Given the description of an element on the screen output the (x, y) to click on. 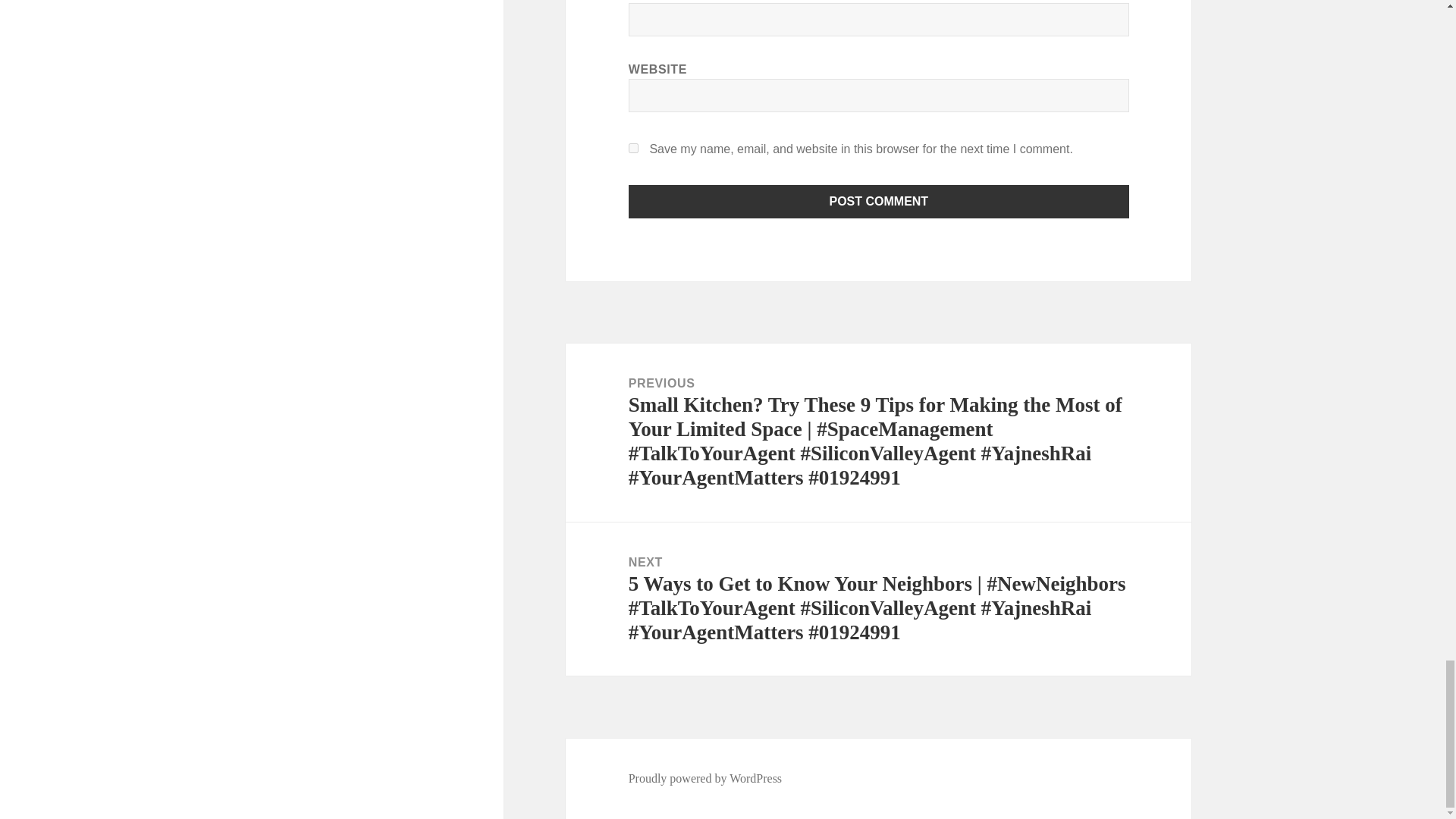
Proudly powered by WordPress (704, 778)
Post Comment (878, 201)
yes (633, 148)
Post Comment (878, 201)
